Given the description of an element on the screen output the (x, y) to click on. 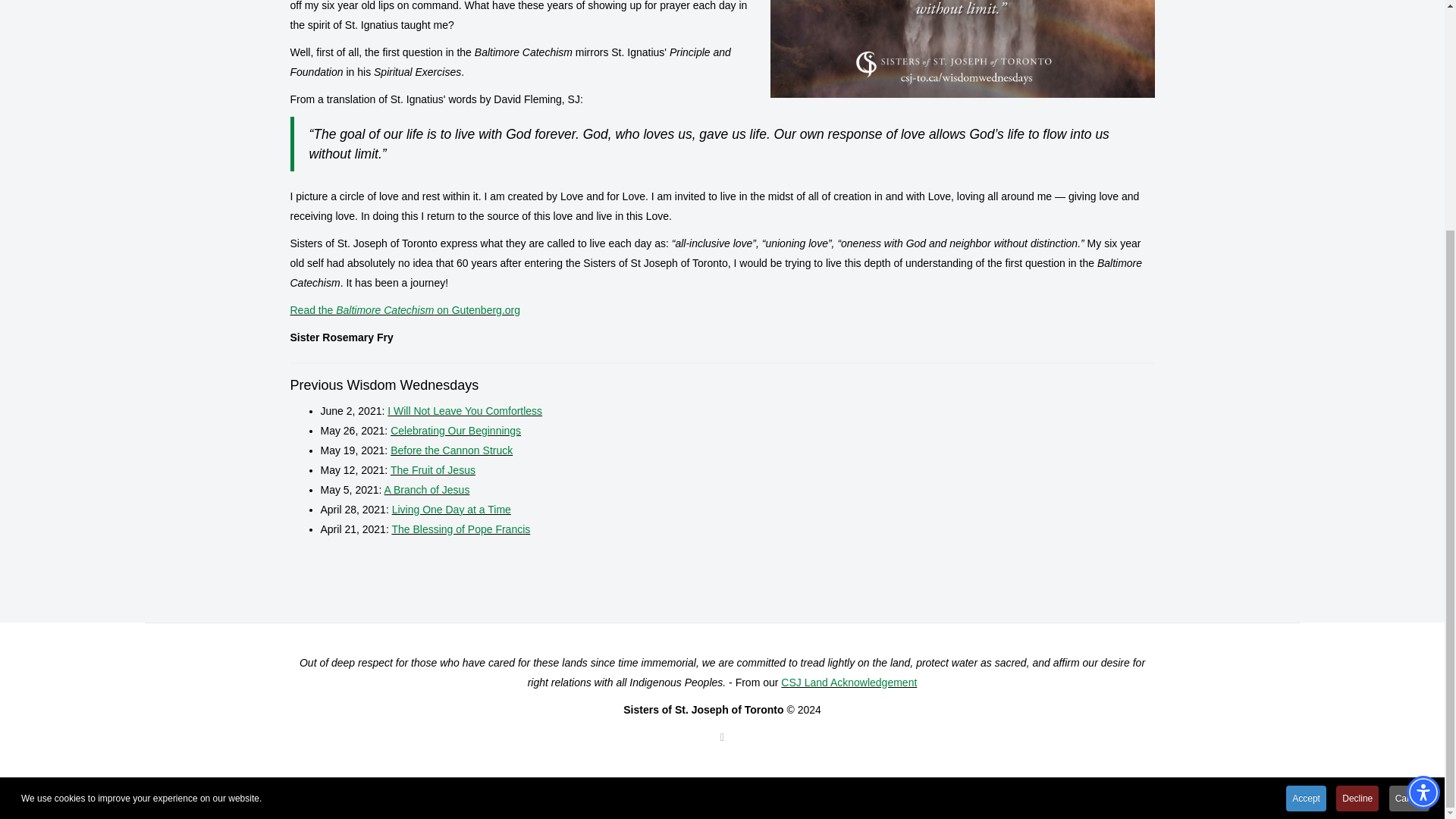
Before the Cannon Struck (451, 450)
The Blessing of Pope Francis (460, 529)
Living One Day at a Time (451, 509)
Accessibility Menu (1422, 481)
A Branch of Jesus (427, 490)
The Fruit of Jesus (433, 469)
Read the Baltimore Catechism on Gutenberg.org (404, 309)
I Will Not Leave You Comfortless (464, 410)
Celebrating Our Beginnings (455, 430)
CSJ Land Acknowledgement (848, 682)
